Given the description of an element on the screen output the (x, y) to click on. 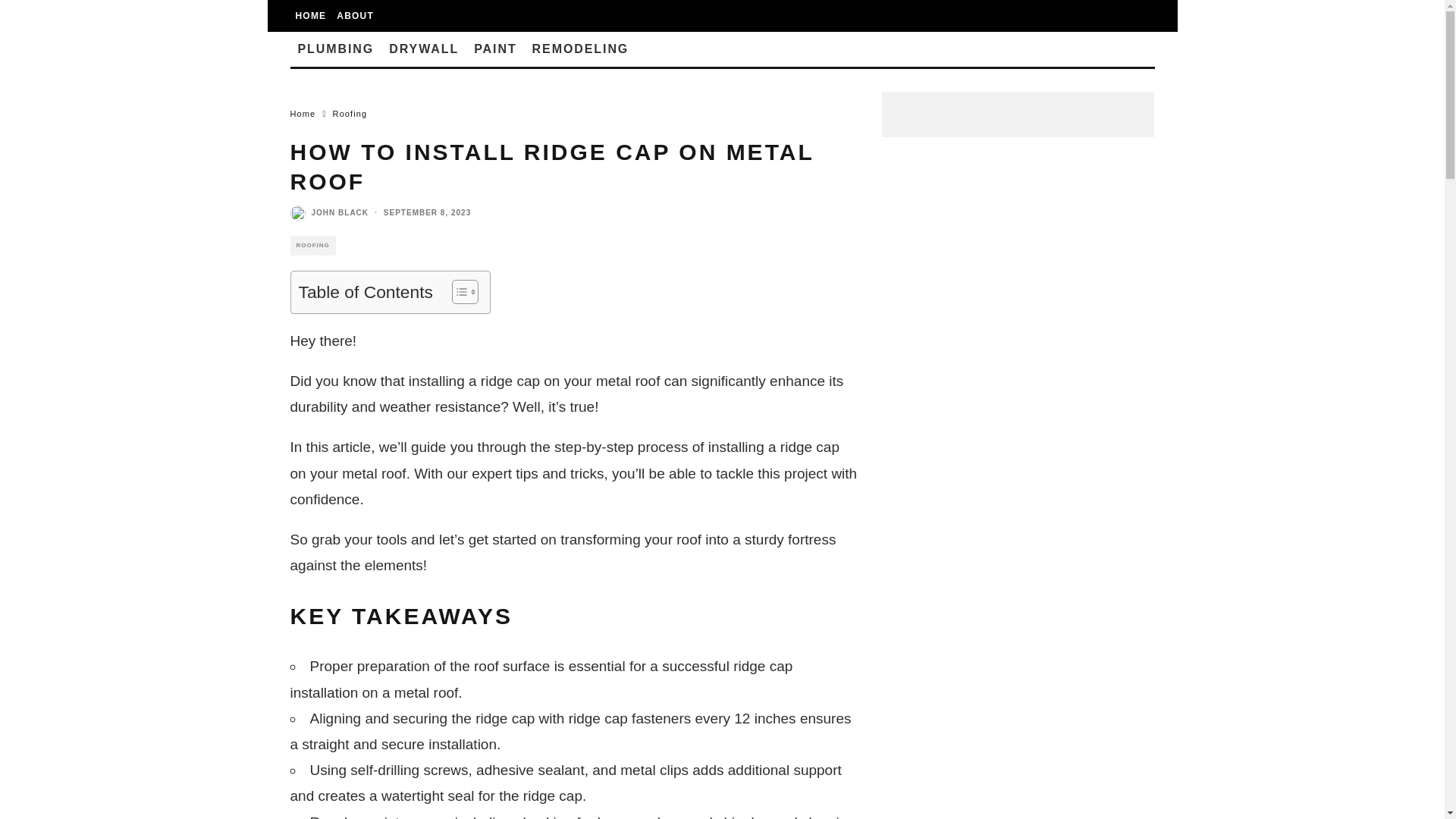
ABOUT (354, 15)
Home (302, 112)
JOHN BLACK (339, 212)
PLUMBING (335, 48)
HOME (310, 15)
DRYWALL (423, 48)
Roofing (350, 112)
ROOFING (311, 245)
REMODELING (580, 48)
PAINT (494, 48)
